Given the description of an element on the screen output the (x, y) to click on. 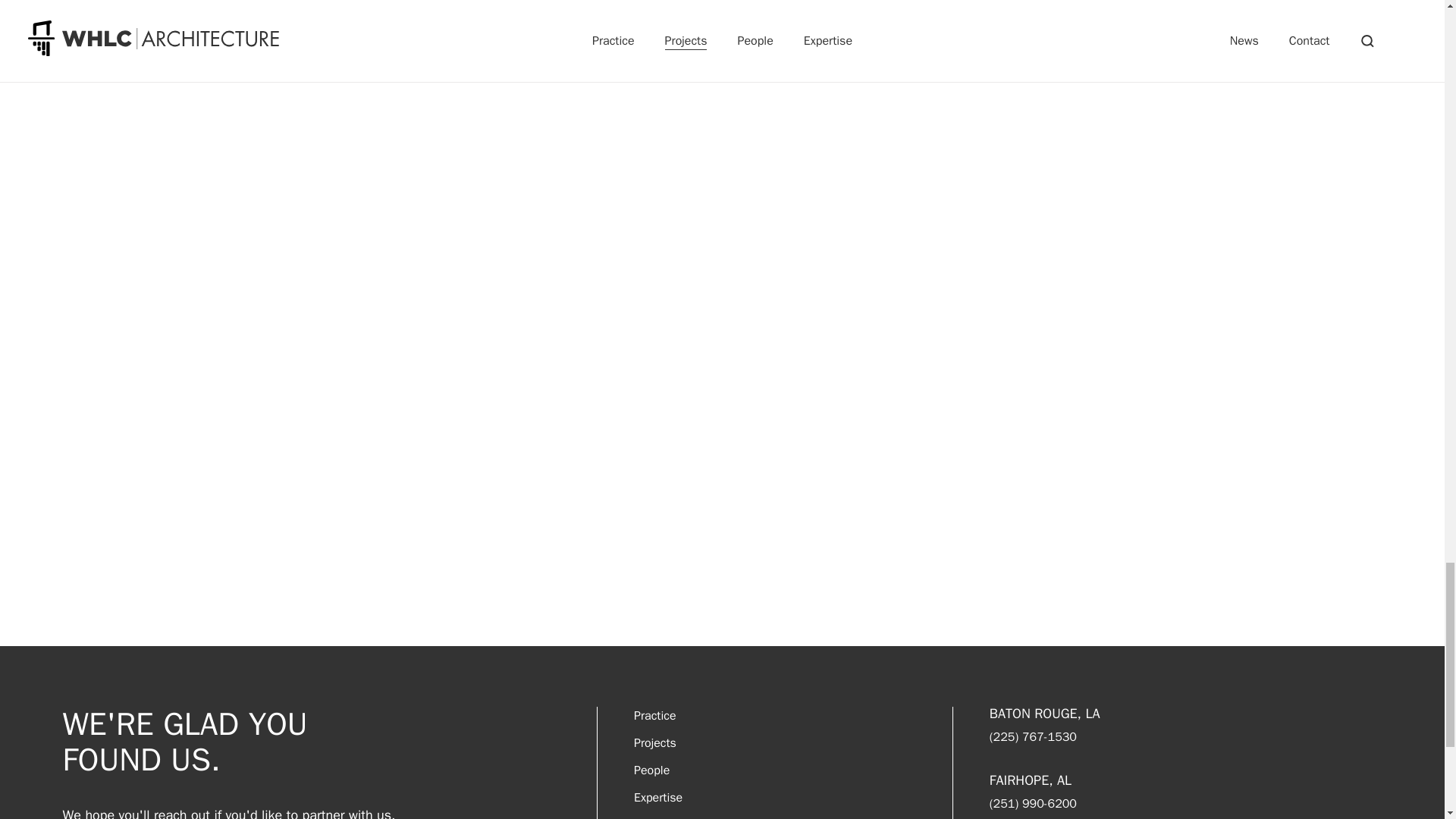
People (651, 770)
Projects (655, 742)
Practice (655, 715)
reach out (181, 811)
